Given the description of an element on the screen output the (x, y) to click on. 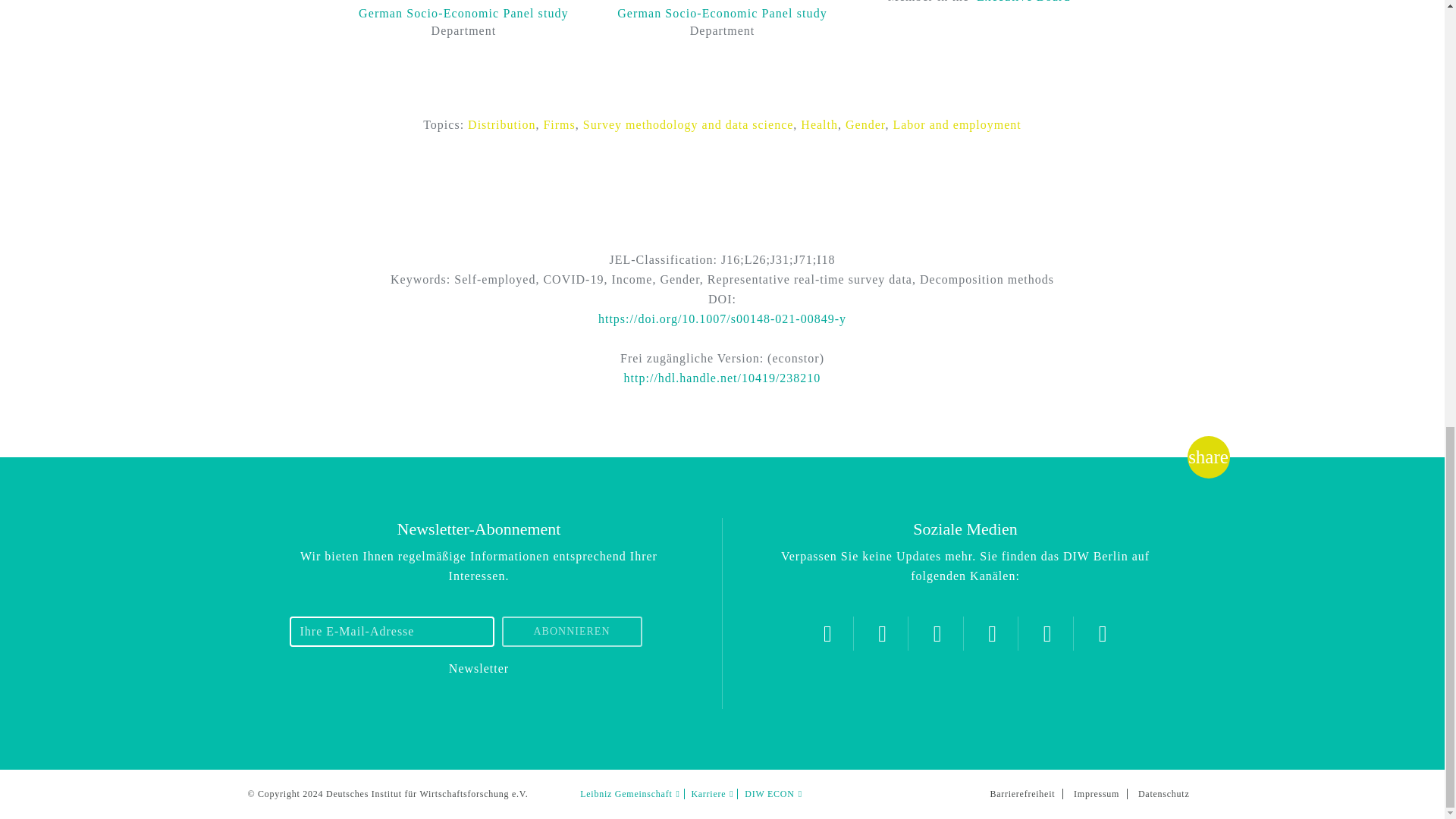
LinkedIn (1047, 633)
Facebook (937, 633)
Teilen (1208, 456)
Youtube (991, 633)
RSS feeds (1102, 633)
Twitter (827, 633)
Instagram (882, 633)
